Given the description of an element on the screen output the (x, y) to click on. 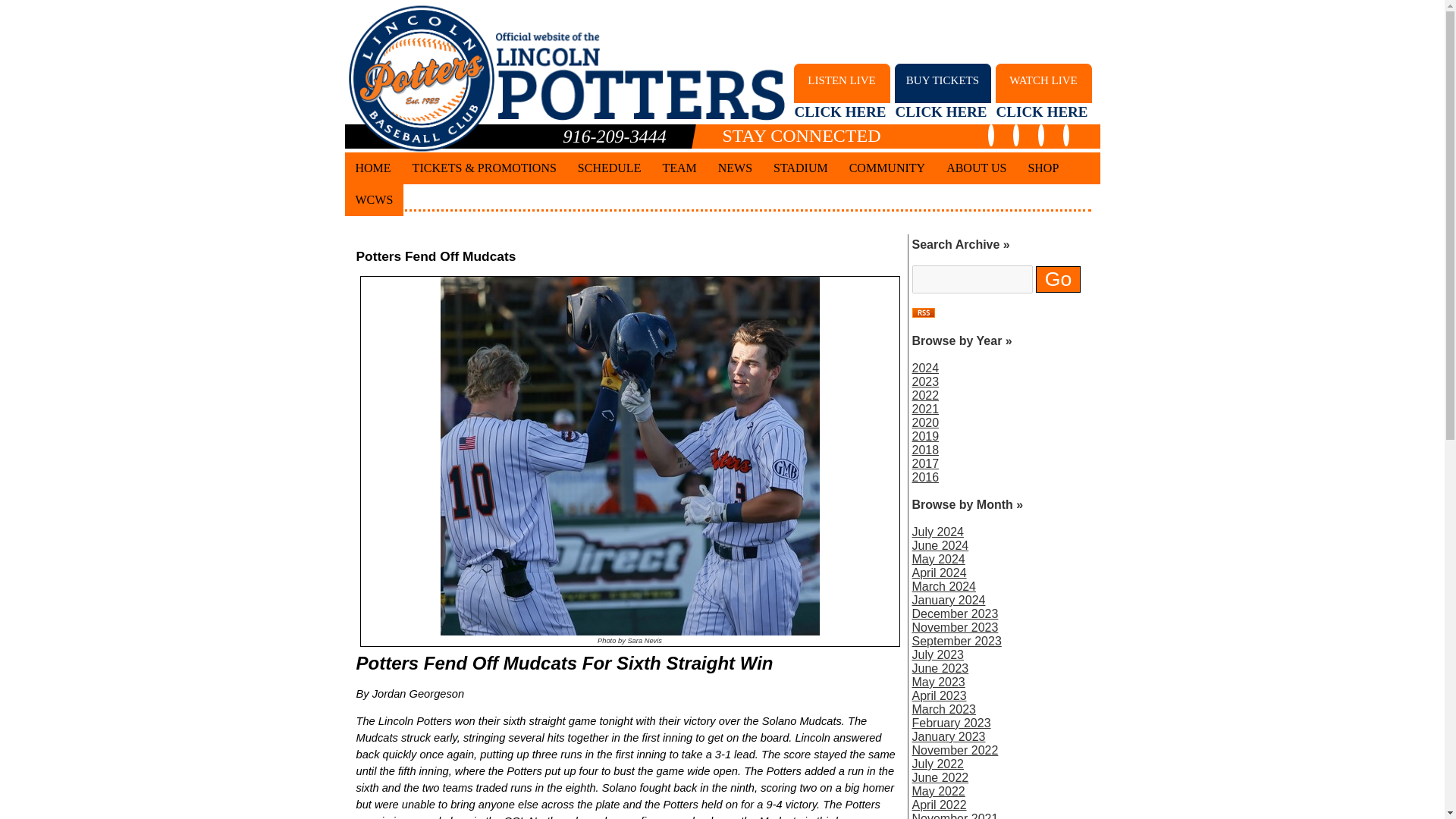
STADIUM (842, 91)
SCHEDULE (1043, 91)
TEAM (800, 168)
NEWS (609, 168)
Go (678, 168)
916-209-3444 (734, 168)
HOME (1057, 279)
